Given the description of an element on the screen output the (x, y) to click on. 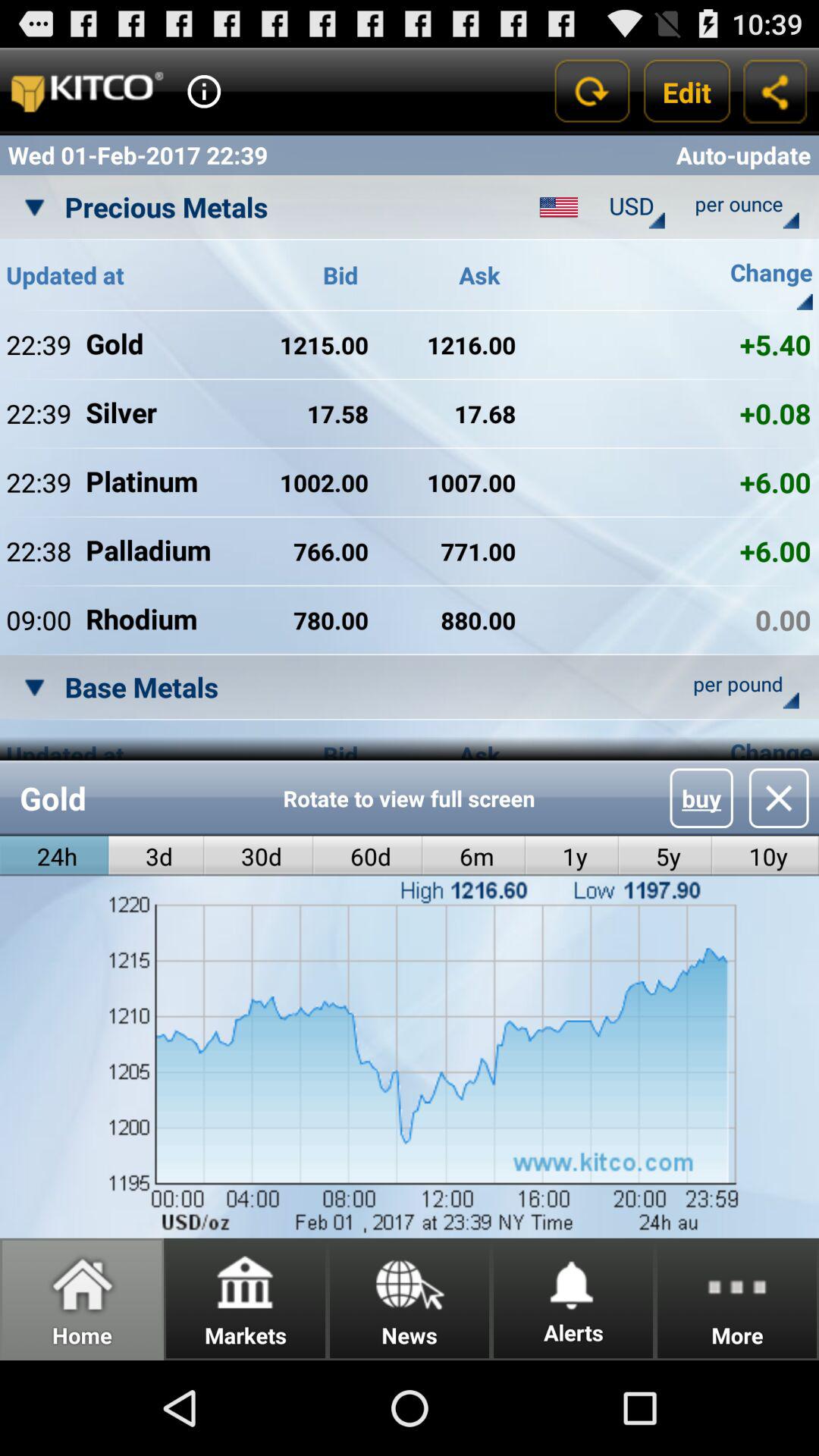
launch the icon to the right of 30d (367, 856)
